Given the description of an element on the screen output the (x, y) to click on. 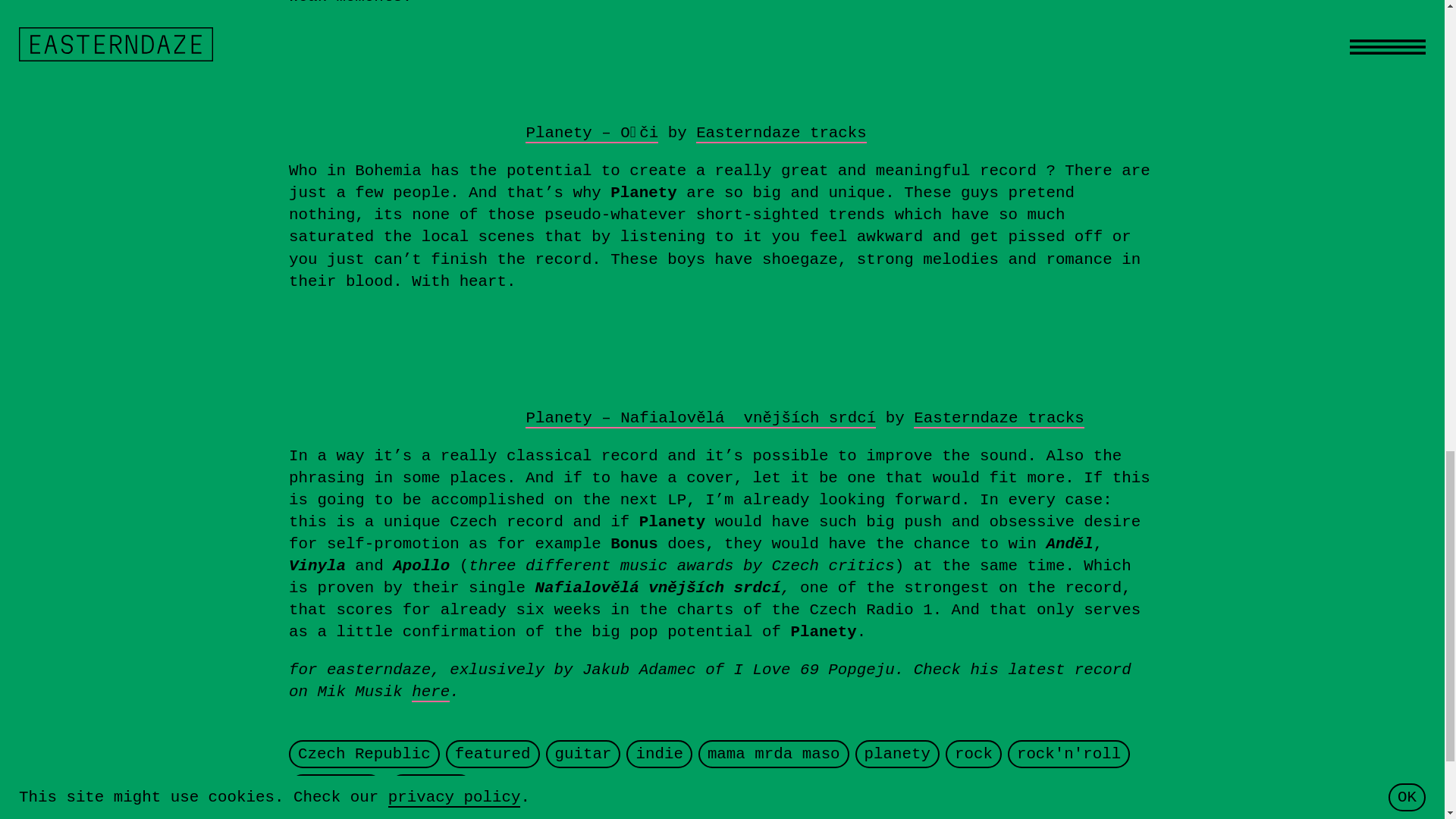
planety (897, 753)
shoegaze (336, 787)
featured (492, 753)
mama mrda maso (773, 753)
Czech Republic (364, 753)
rock (973, 753)
Easterndaze tracks (780, 133)
rock'n'roll (1068, 753)
here (430, 692)
Easterndaze tracks (999, 418)
